Given the description of an element on the screen output the (x, y) to click on. 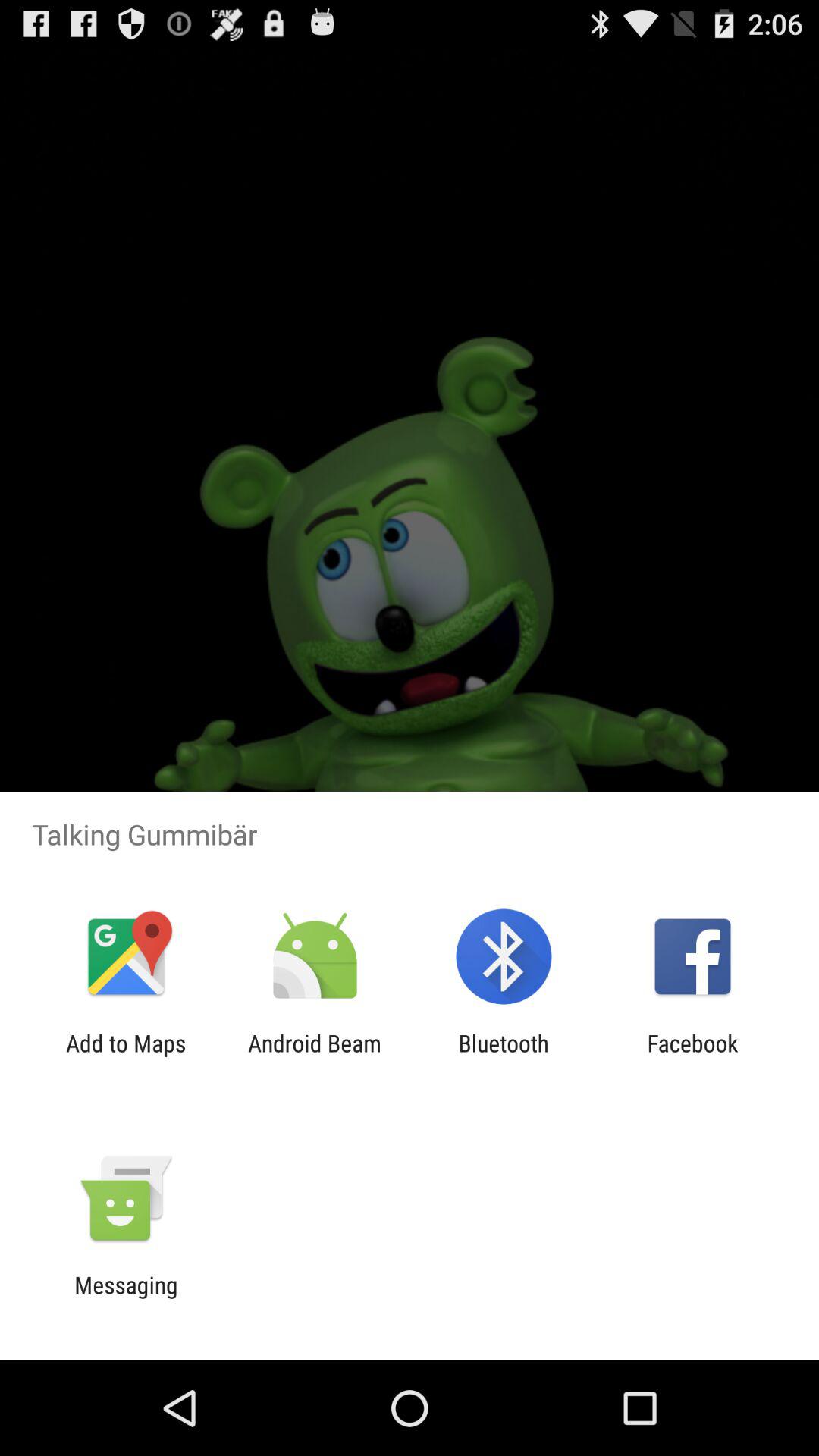
turn off app next to the bluetooth app (314, 1056)
